Given the description of an element on the screen output the (x, y) to click on. 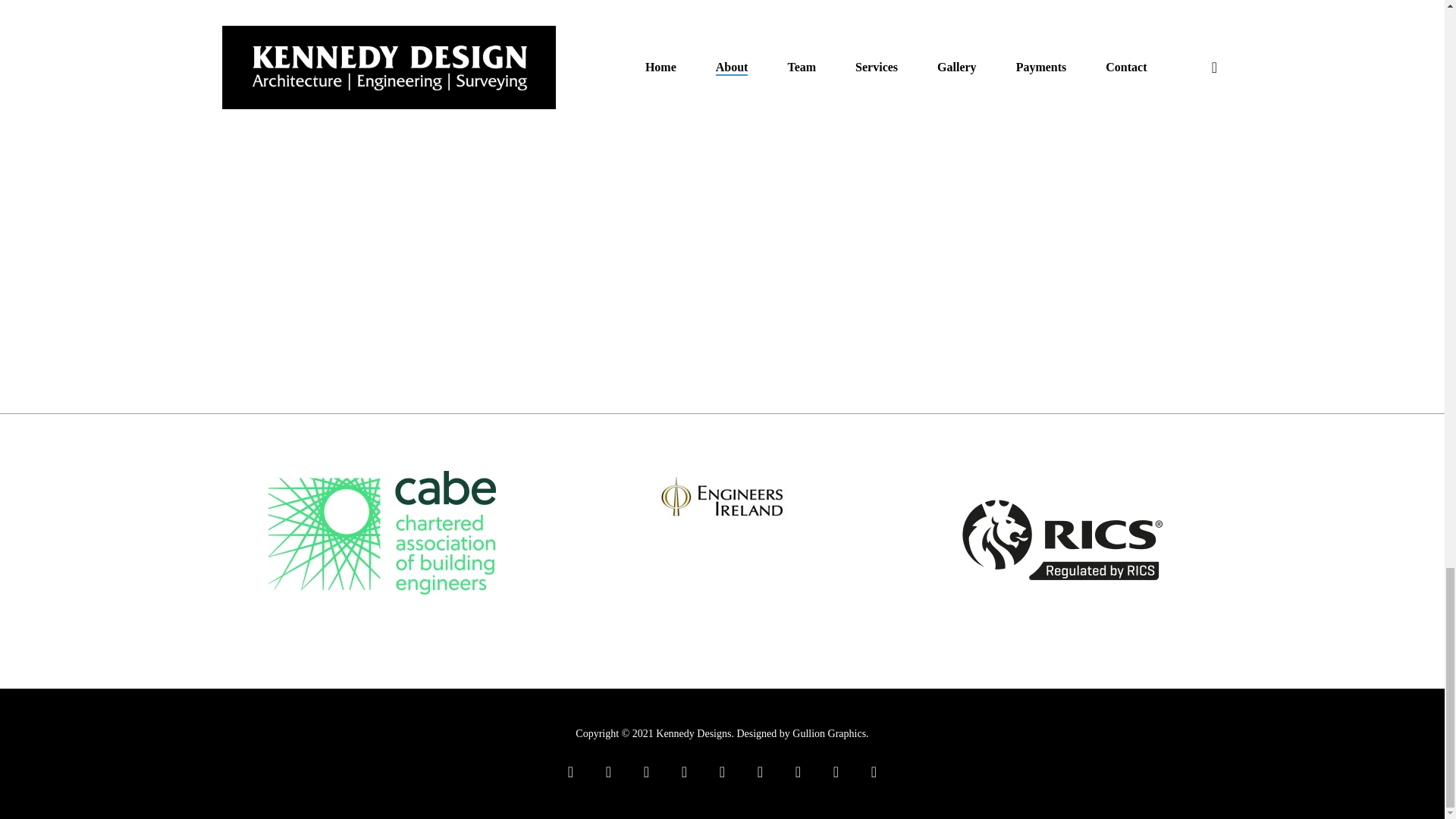
houzz (760, 772)
google-plus (683, 772)
email (874, 772)
twitter (570, 772)
instagram (722, 772)
facebook (608, 772)
whatsapp (798, 772)
linkedin (646, 772)
phone (836, 772)
